Given the description of an element on the screen output the (x, y) to click on. 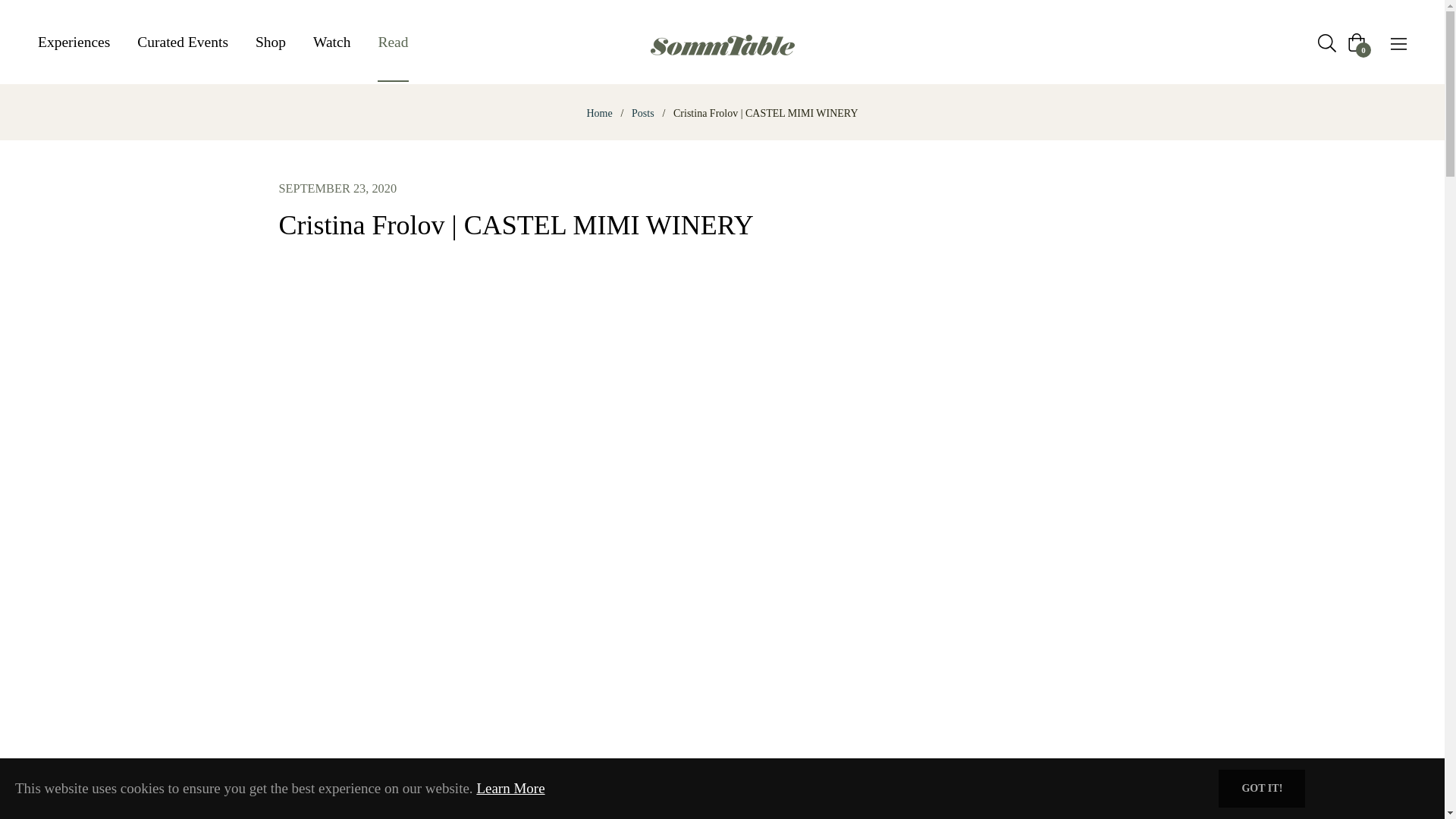
Shopping Cart (1356, 42)
Posts (642, 113)
Home (598, 113)
Experiences (80, 42)
Home (598, 113)
Curated Events (182, 42)
